Given the description of an element on the screen output the (x, y) to click on. 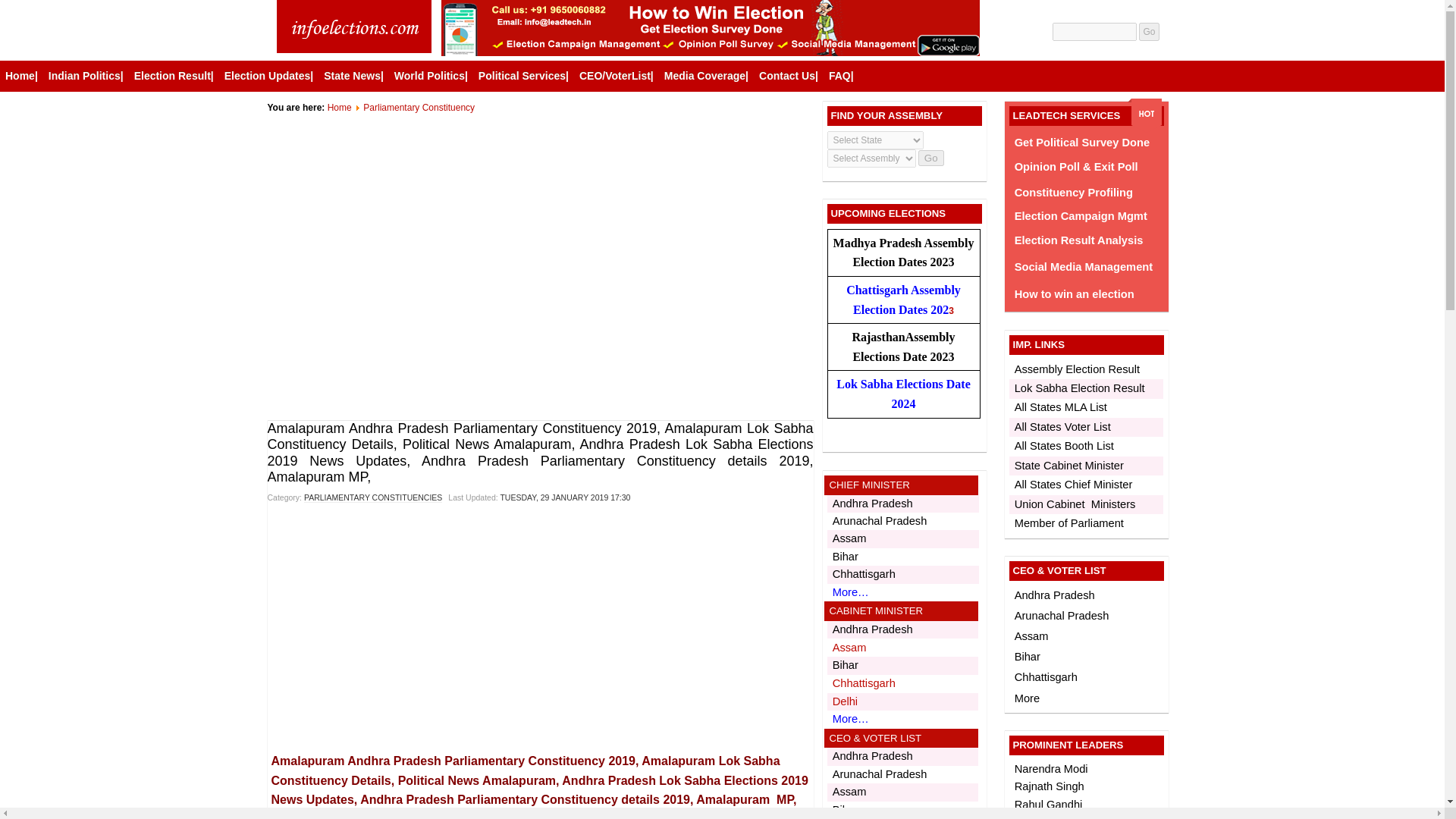
Election Results 2023 Lok Sabha Assembly Candidate India (353, 28)
Advertisement (539, 221)
Advertisement (394, 630)
Go (1148, 31)
Advertisement (542, 370)
Go (1148, 31)
